Given the description of an element on the screen output the (x, y) to click on. 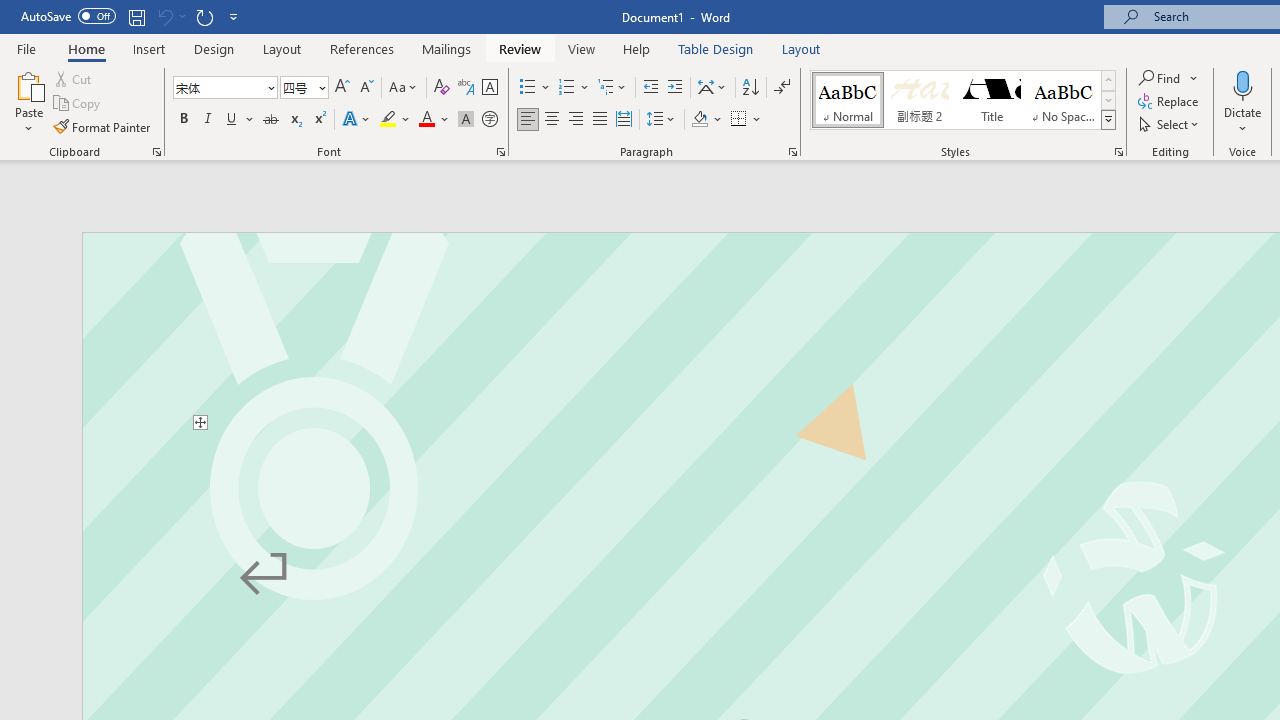
Replace... (1169, 101)
Grow Font (342, 87)
Font Color (434, 119)
